Given the description of an element on the screen output the (x, y) to click on. 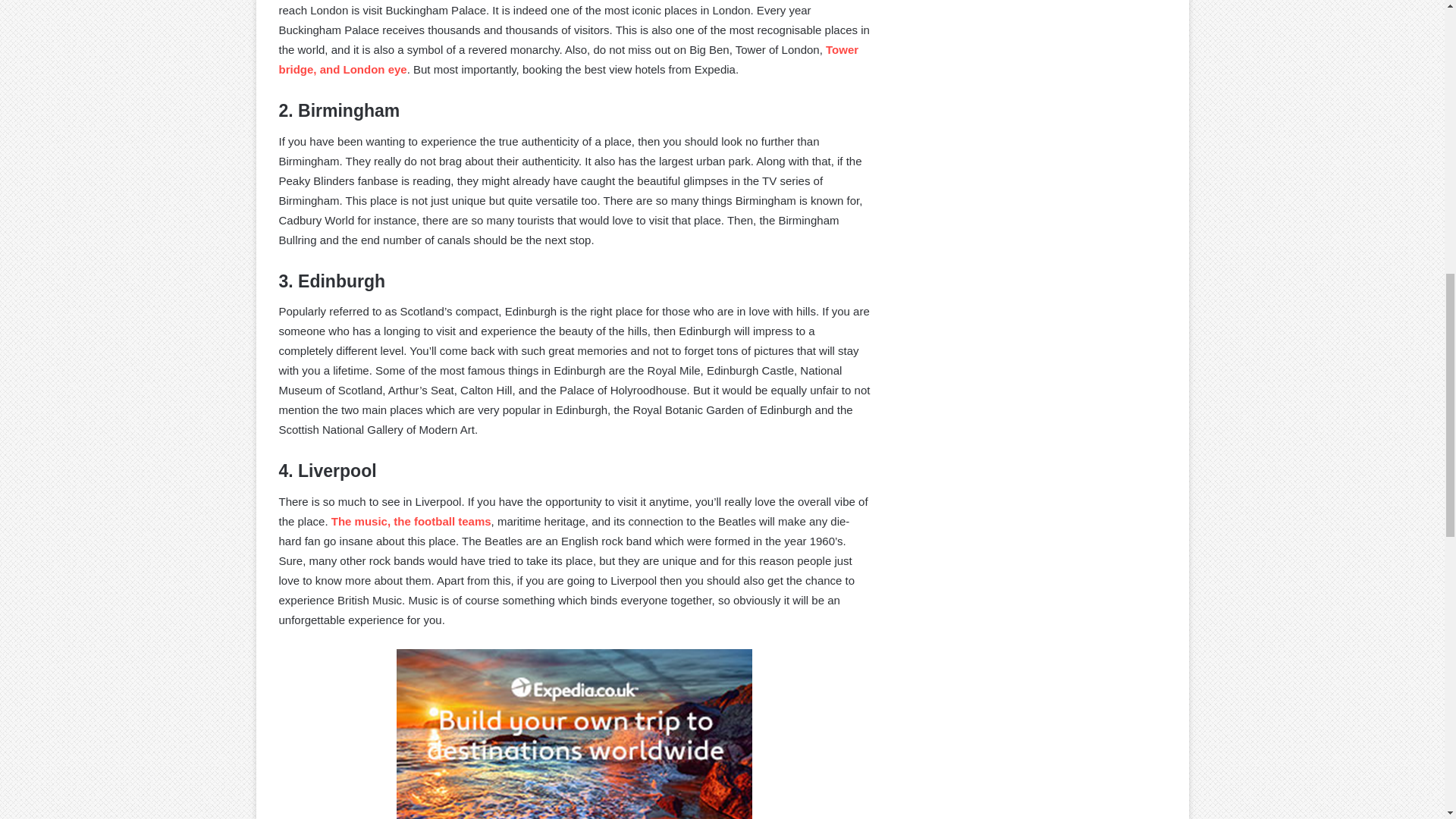
Tower bridge, and London eye (569, 59)
The music, the football teams (411, 521)
The music, the football teams (411, 521)
Tower bridge, and London eye (569, 59)
